Given the description of an element on the screen output the (x, y) to click on. 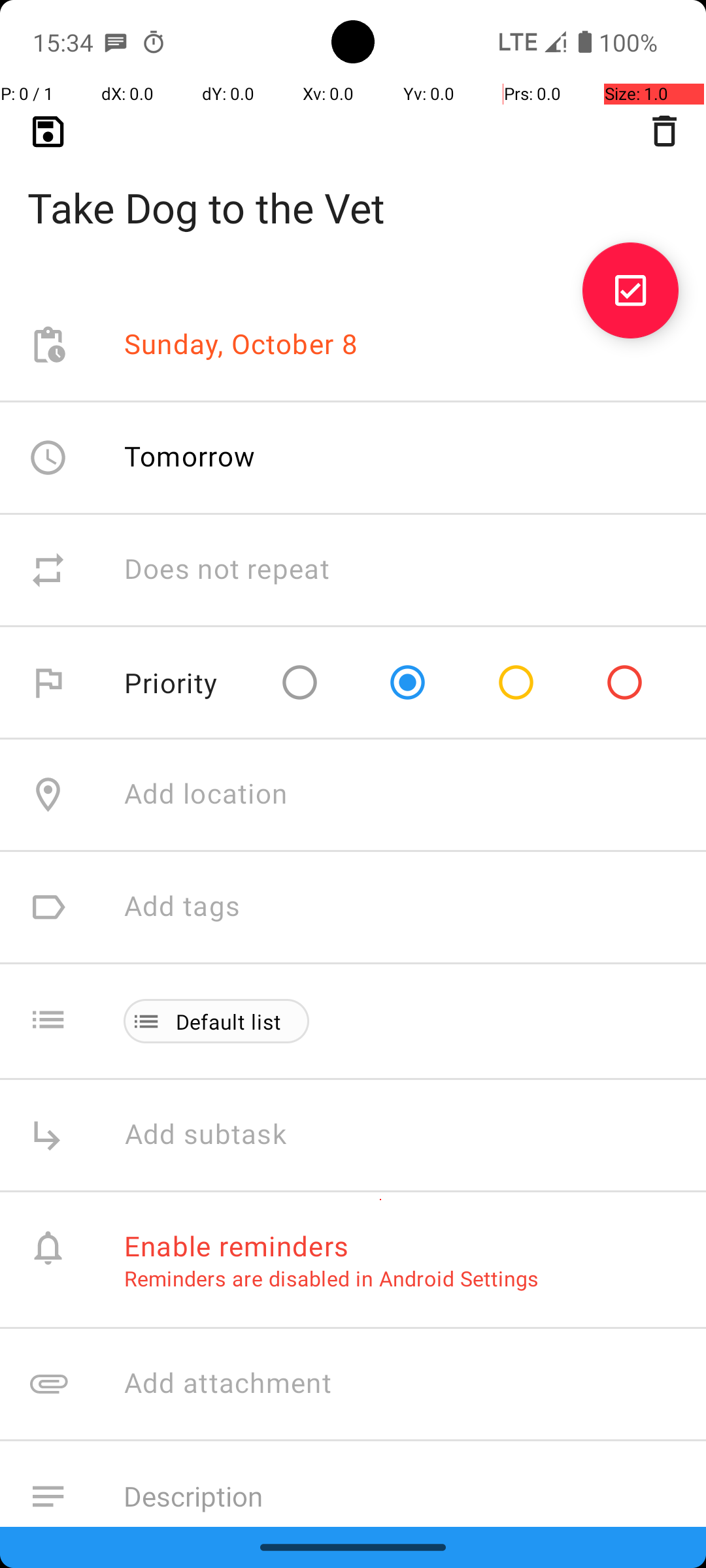
Sunday, October 8 Element type: android.widget.TextView (240, 344)
